Given the description of an element on the screen output the (x, y) to click on. 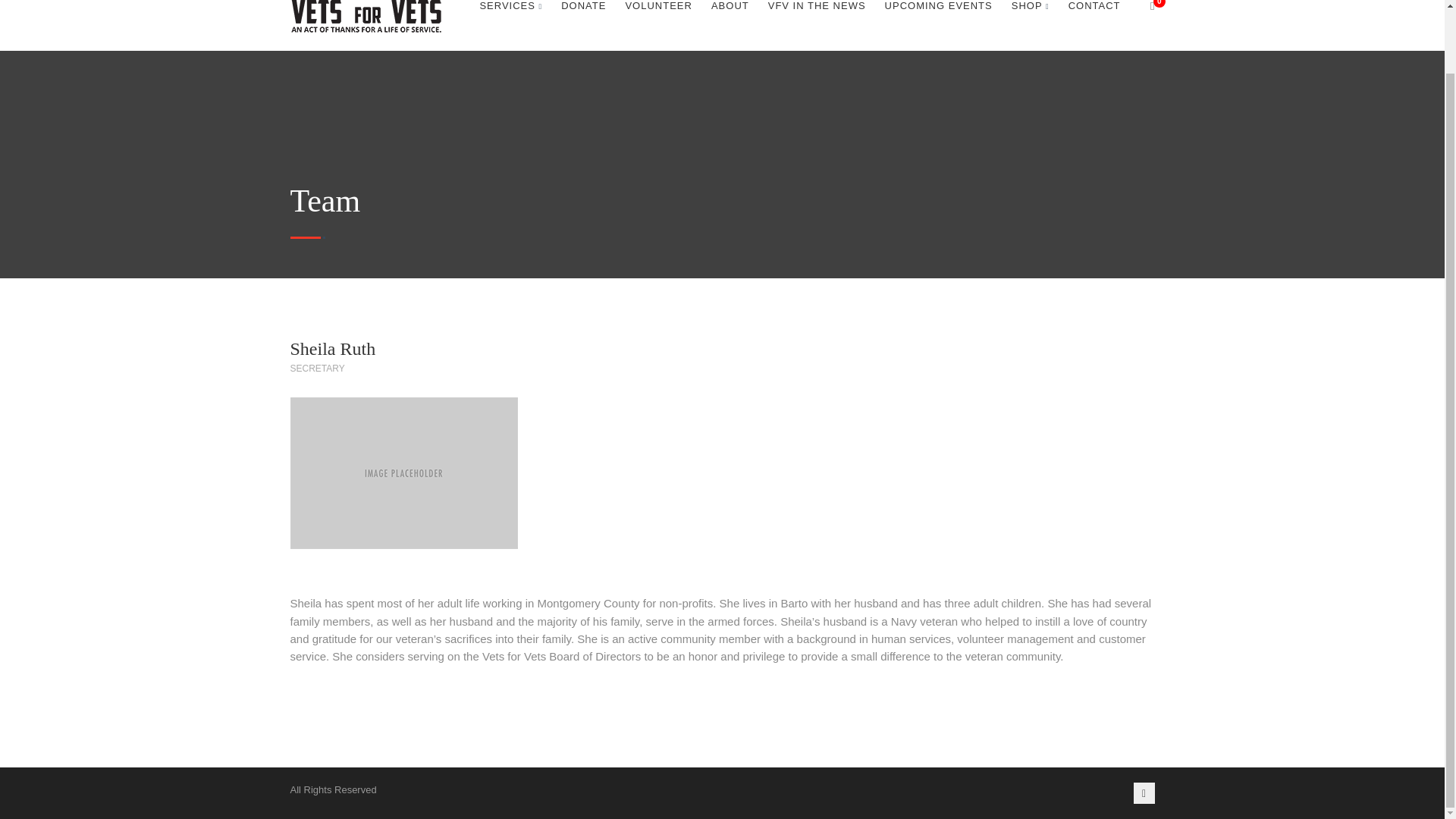
0 (1142, 12)
ABOUT (730, 12)
VOLUNTEER (657, 12)
DONATE (582, 12)
UPCOMING EVENTS (938, 12)
SHOP (1030, 12)
VFV IN THE NEWS (817, 12)
SERVICES (510, 12)
CONTACT (1094, 12)
